Given the description of an element on the screen output the (x, y) to click on. 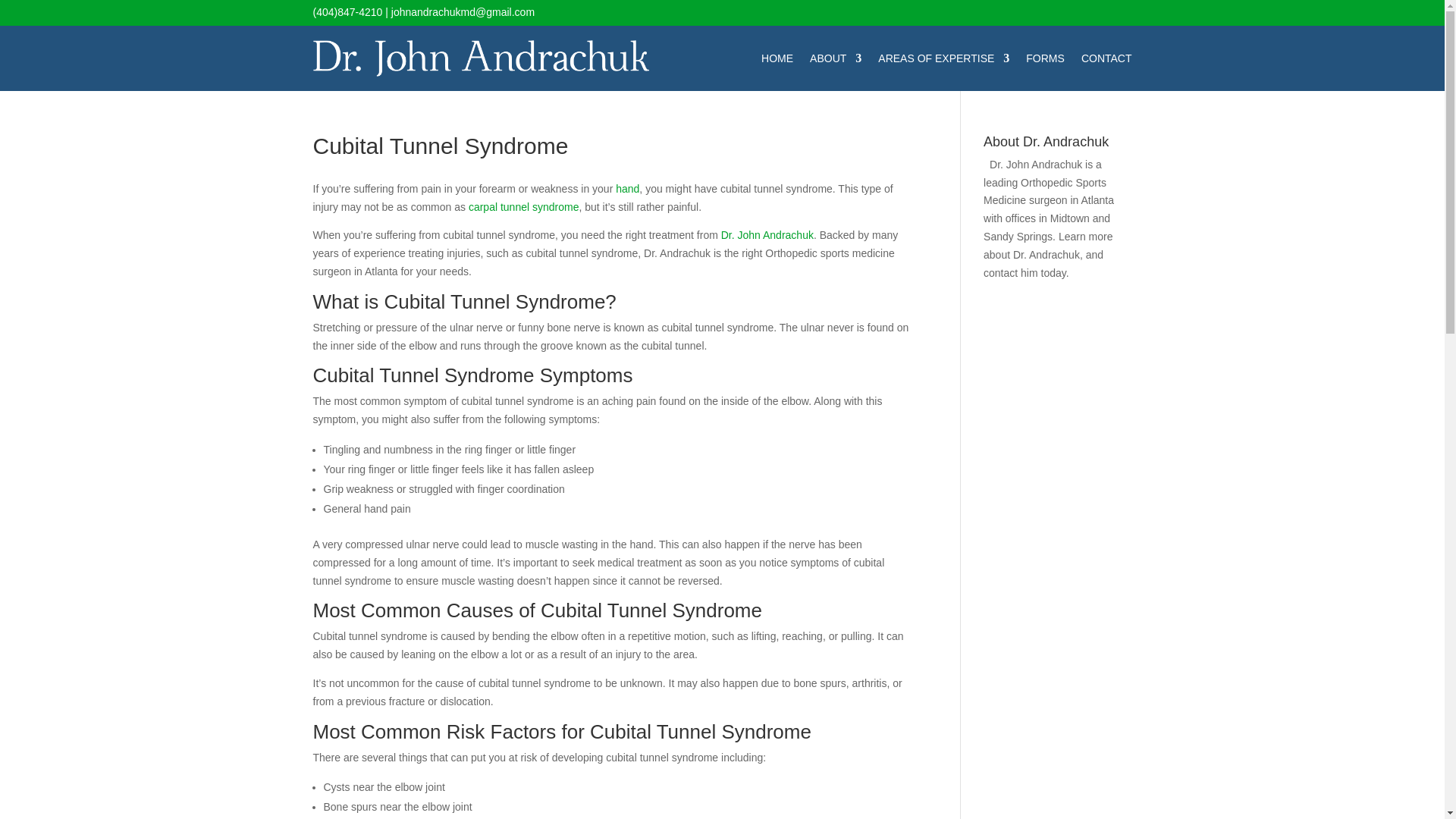
AREAS OF EXPERTISE (943, 57)
ABOUT (835, 57)
Dr. John Andrachuk (766, 234)
hand (627, 188)
carpal tunnel syndrome (523, 206)
